Given the description of an element on the screen output the (x, y) to click on. 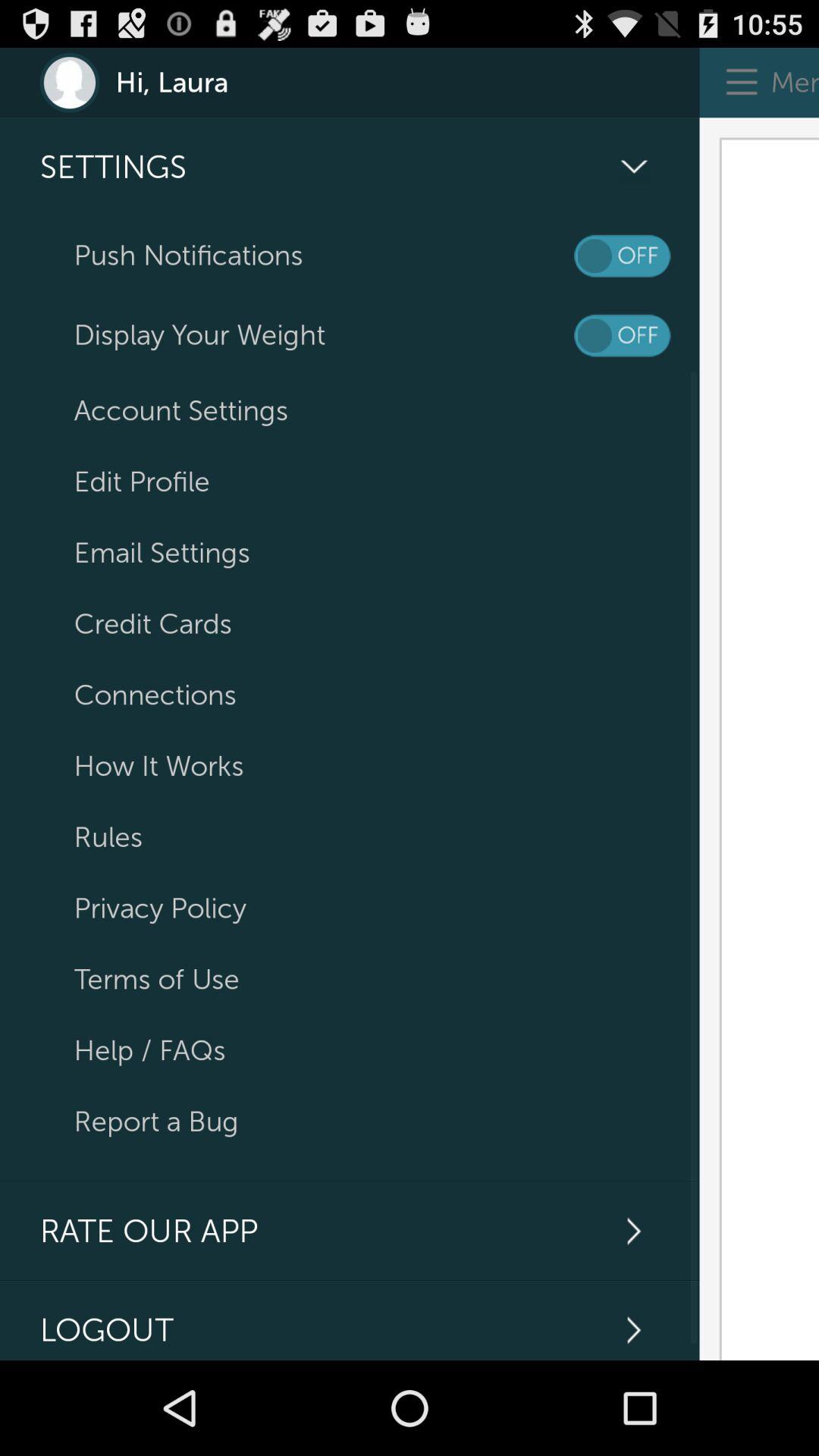
turn off weight display (622, 335)
